Given the description of an element on the screen output the (x, y) to click on. 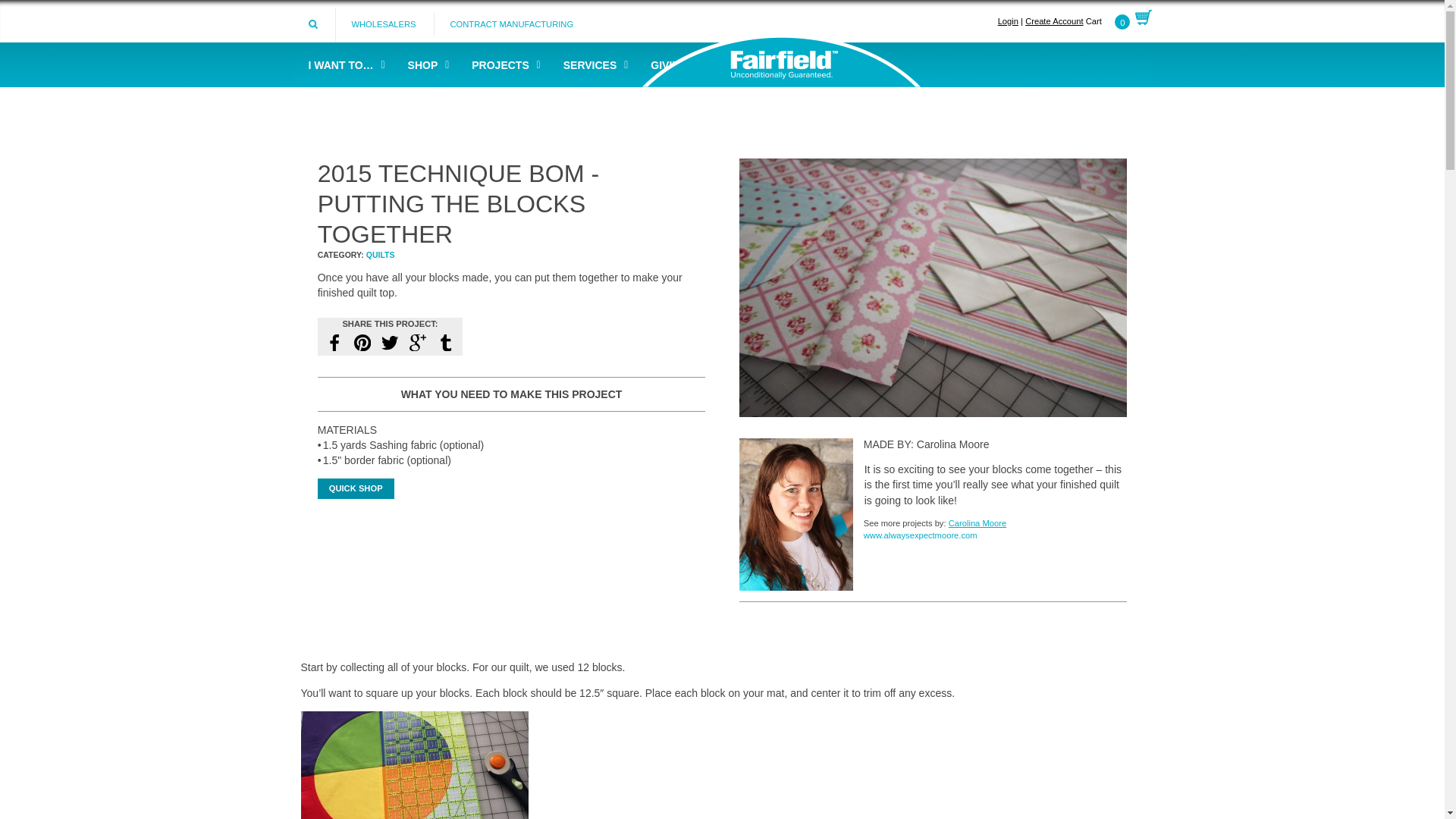
Login (1007, 20)
Cart  0  (1118, 20)
CONTRACT MANUFACTURING (510, 23)
Create Account (1054, 20)
SHOP (425, 64)
WHOLESALERS (382, 24)
